Given the description of an element on the screen output the (x, y) to click on. 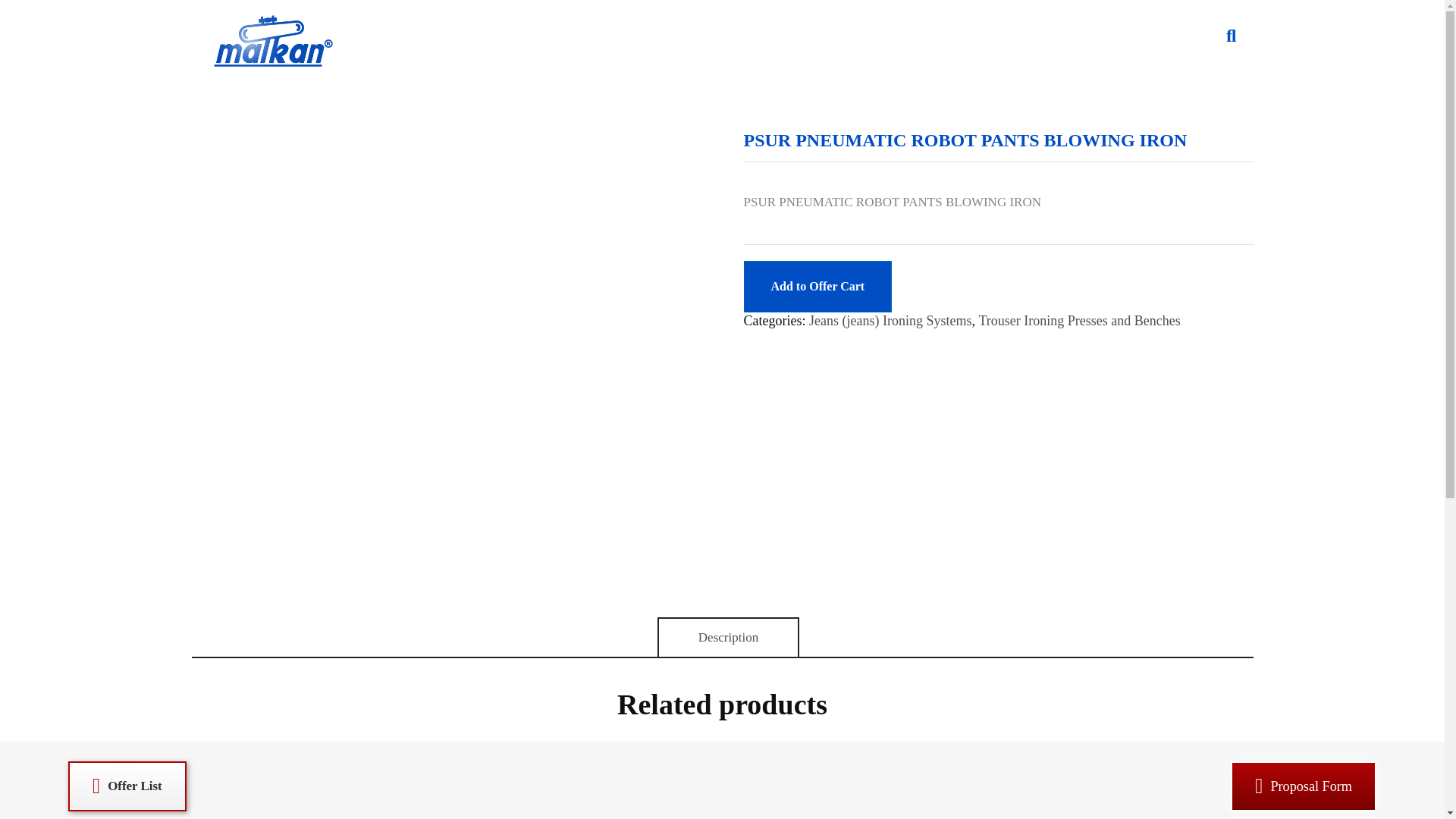
Offer List (126, 785)
Malkan; Since 1971 (272, 41)
Malkan; Since 1971 (288, 80)
Malkan; Since 1971 (288, 80)
